Given the description of an element on the screen output the (x, y) to click on. 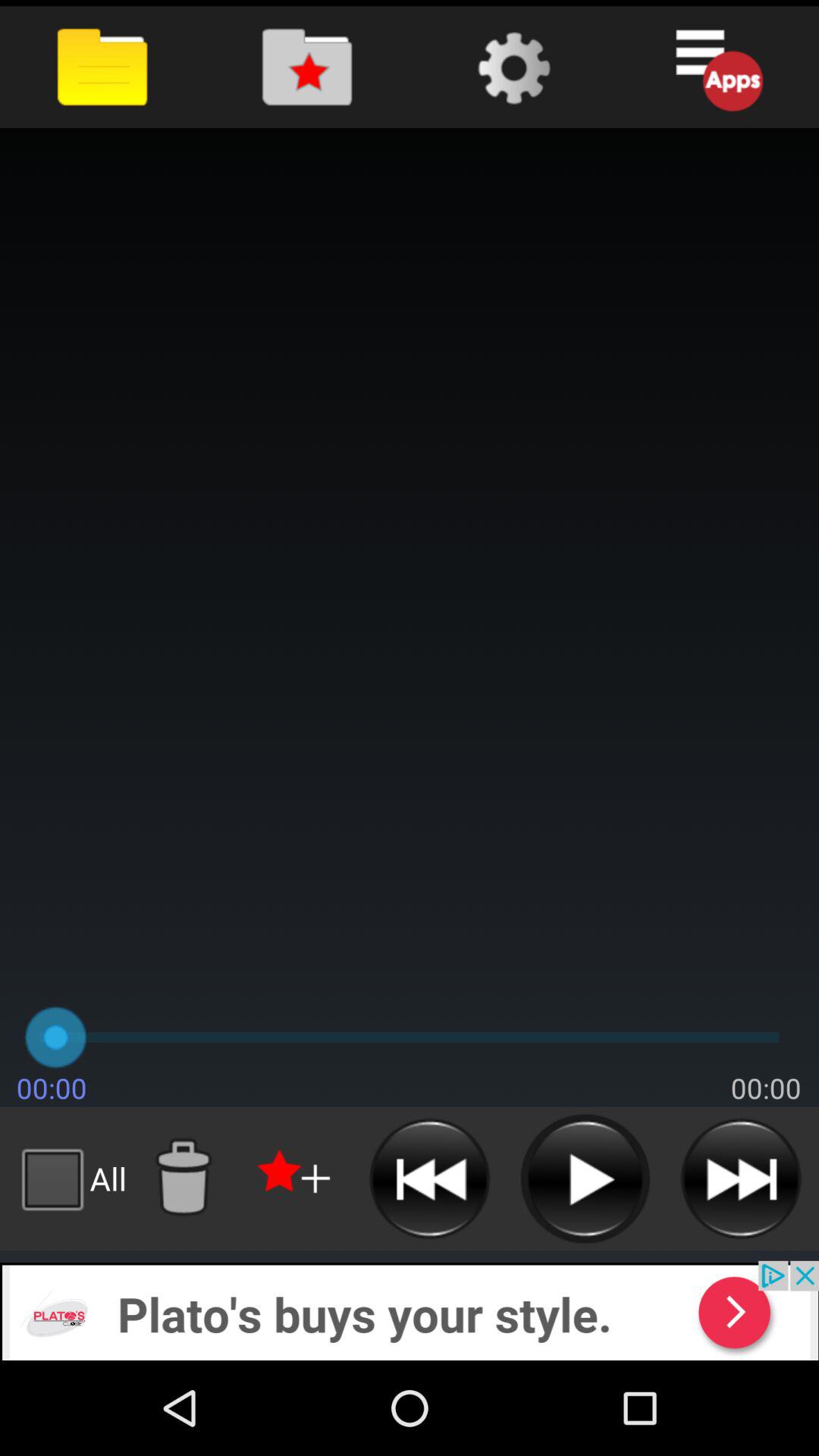
folder (307, 66)
